Given the description of an element on the screen output the (x, y) to click on. 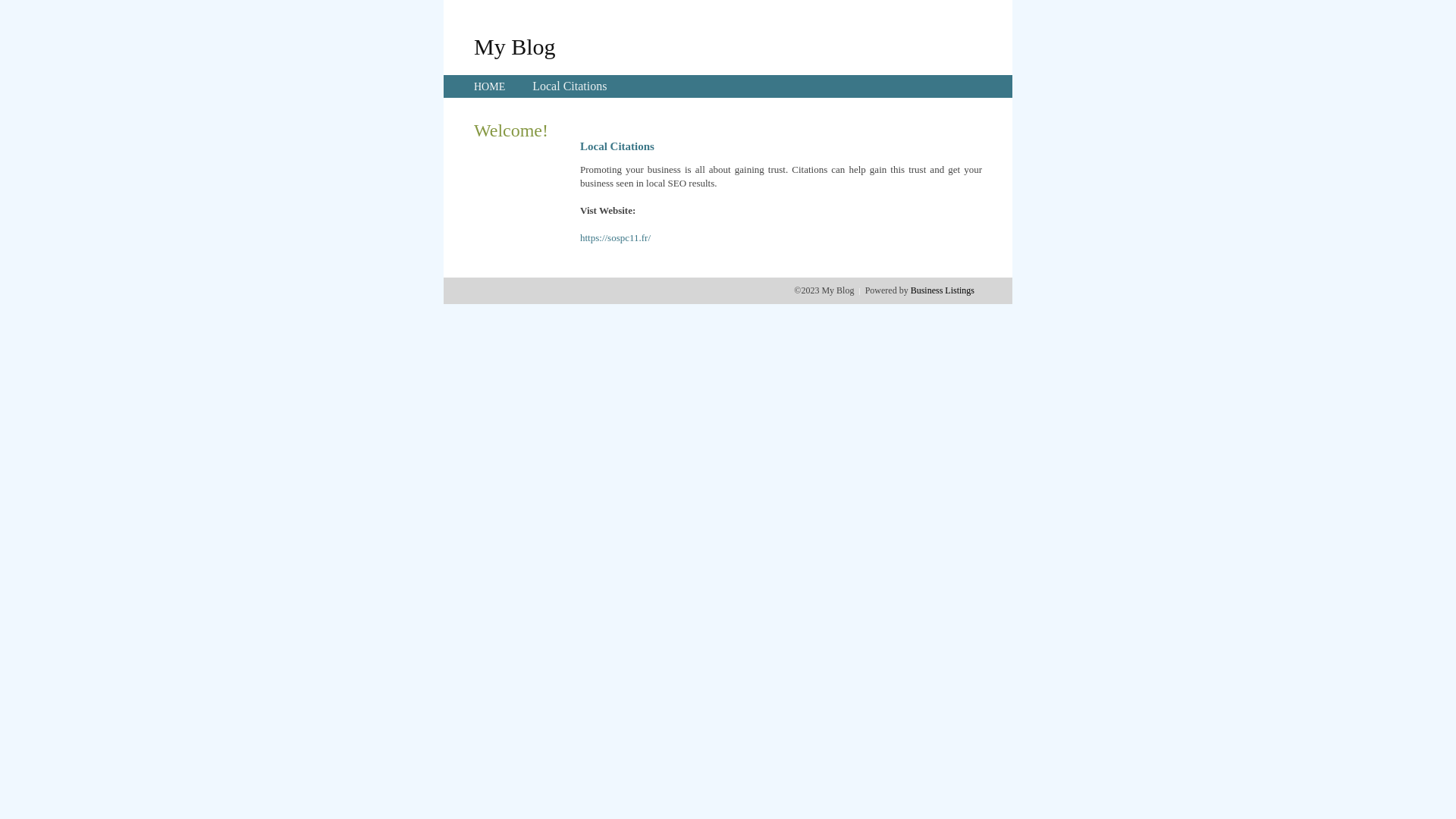
Local Citations Element type: text (569, 85)
Business Listings Element type: text (942, 290)
https://sospc11.fr/ Element type: text (615, 237)
HOME Element type: text (489, 86)
My Blog Element type: text (514, 46)
